Given the description of an element on the screen output the (x, y) to click on. 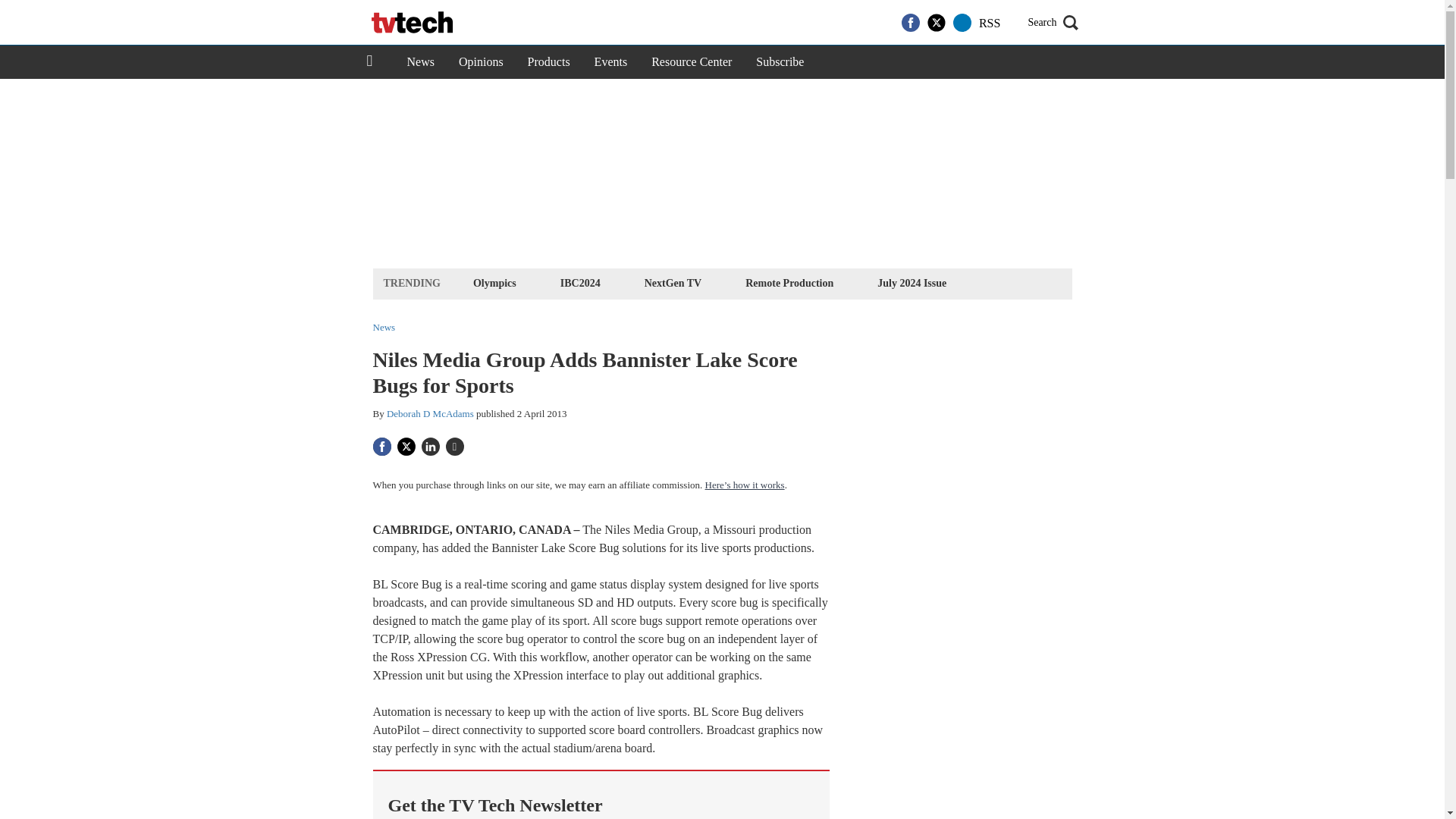
RSS (989, 22)
Resource Center (691, 61)
Events (611, 61)
Products (548, 61)
Opinions (480, 61)
Deborah D McAdams (430, 413)
Remote Production (788, 282)
IBC2024 (579, 282)
Olympics (494, 282)
NextGen TV (673, 282)
July 2024 Issue (912, 282)
News (419, 61)
Subscribe (779, 61)
